Given the description of an element on the screen output the (x, y) to click on. 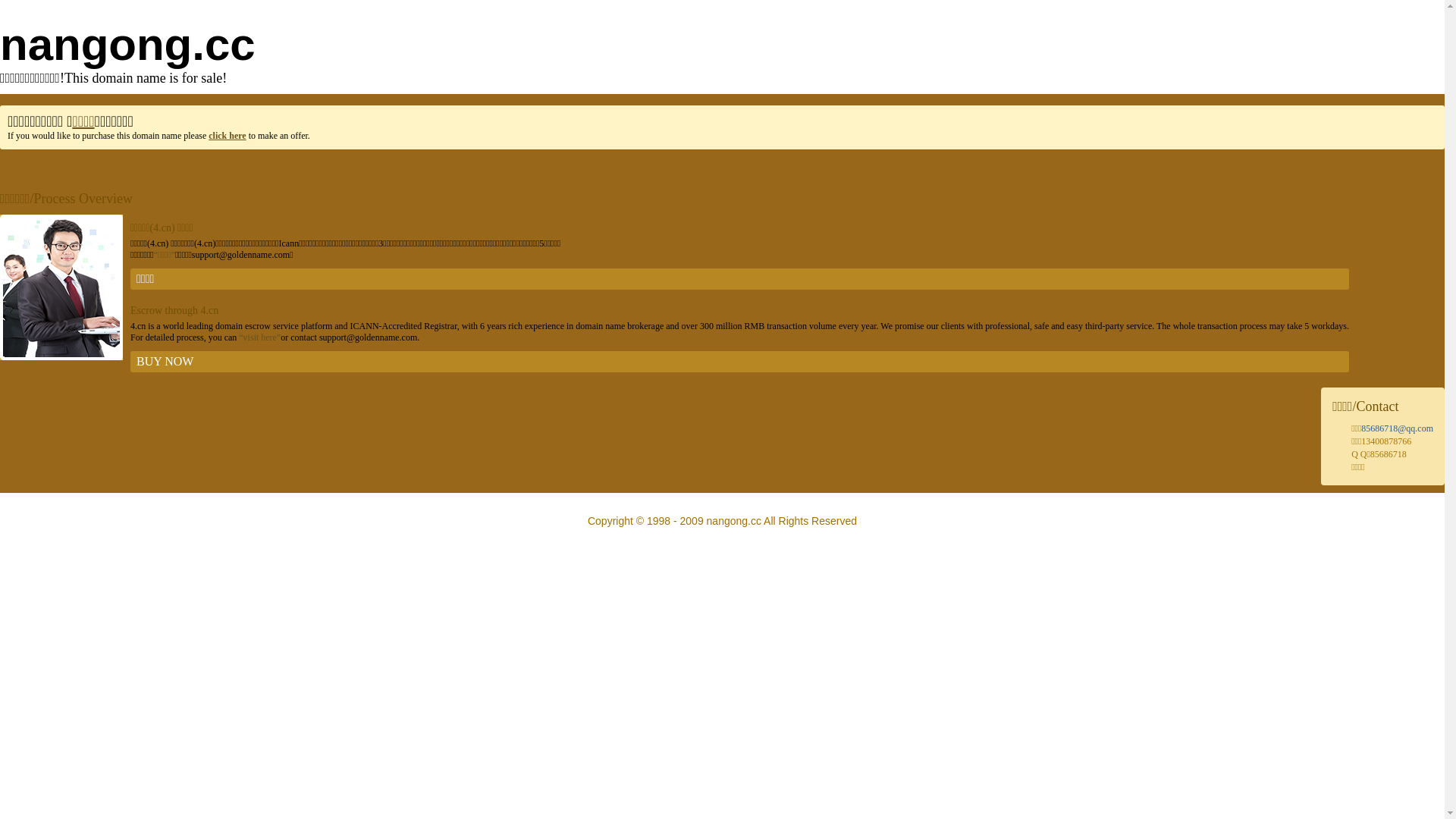
click here Element type: text (226, 135)
BUY NOW Element type: text (739, 361)
85686718@qq.com Element type: text (1397, 428)
